Given the description of an element on the screen output the (x, y) to click on. 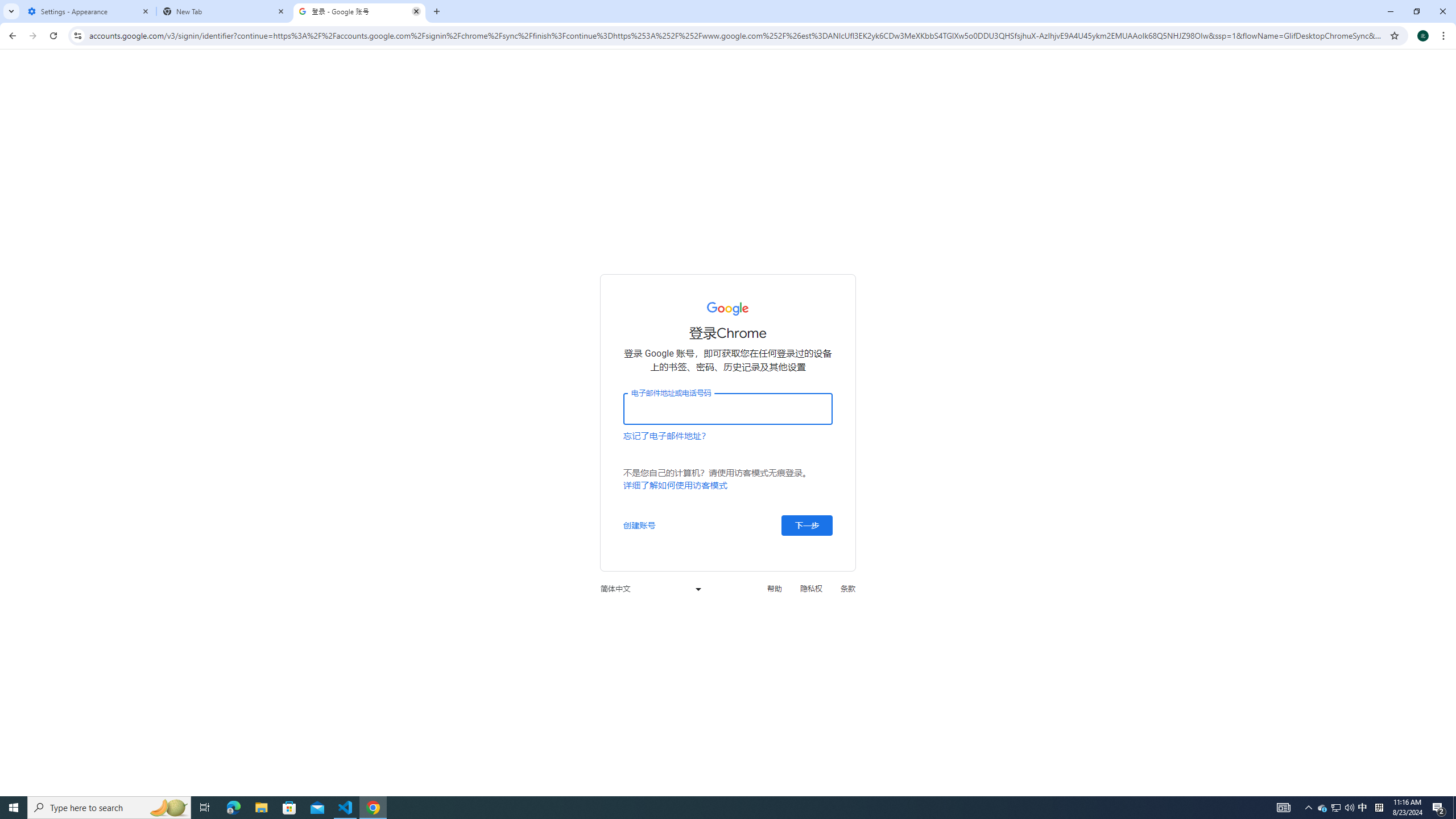
Settings - Appearance (88, 11)
